Given the description of an element on the screen output the (x, y) to click on. 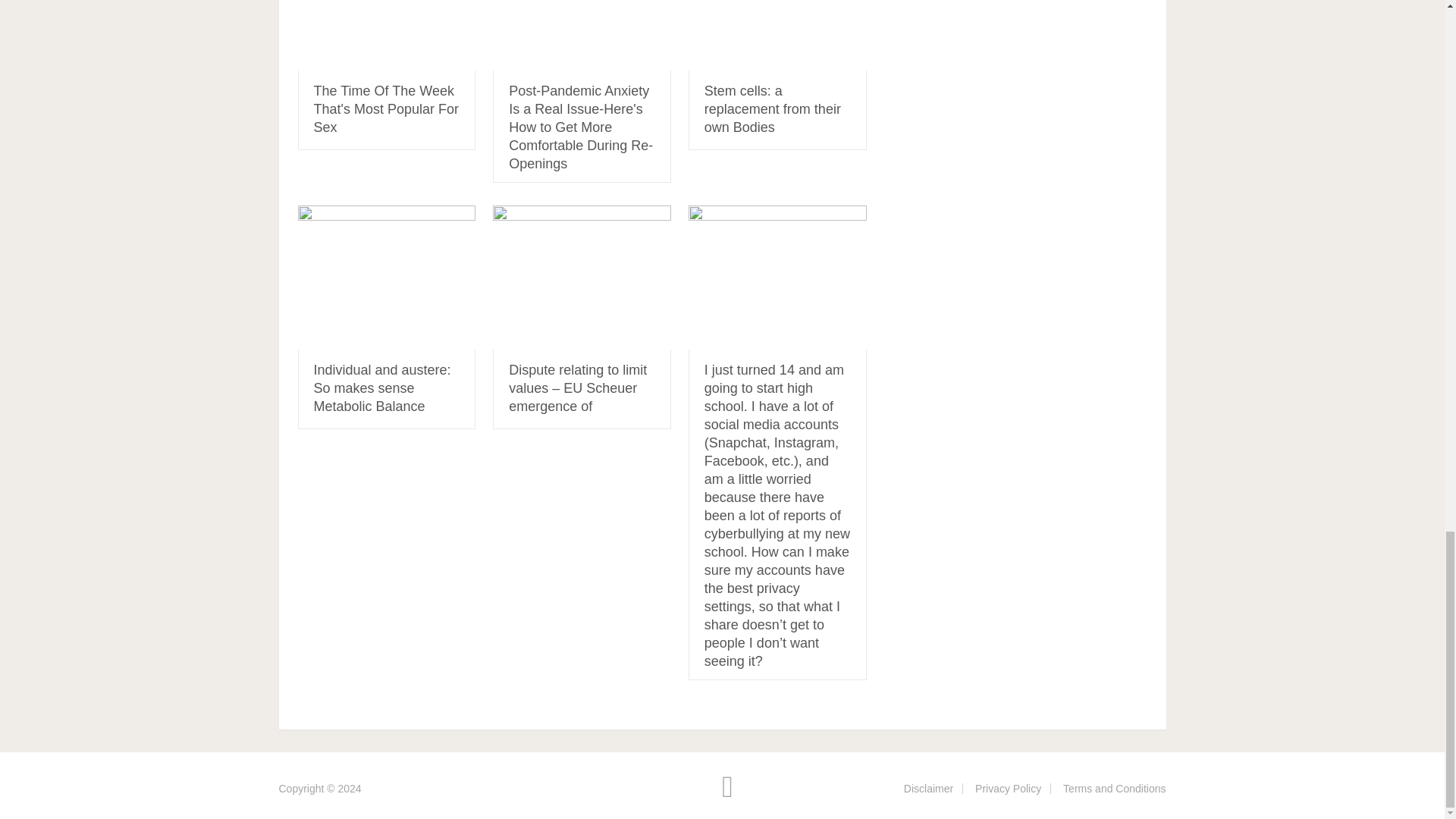
Stem cells: a replacement from their own Bodies (777, 35)
Individual and austere: So makes sense Metabolic Balance (382, 388)
Stem cells: a replacement from their own Bodies (772, 109)
The Time Of The Week That's Most Popular For Sex (387, 109)
The Time Of The Week That's Most Popular For Sex (386, 35)
Individual and austere: So makes sense Metabolic Balance (386, 277)
